Given the description of an element on the screen output the (x, y) to click on. 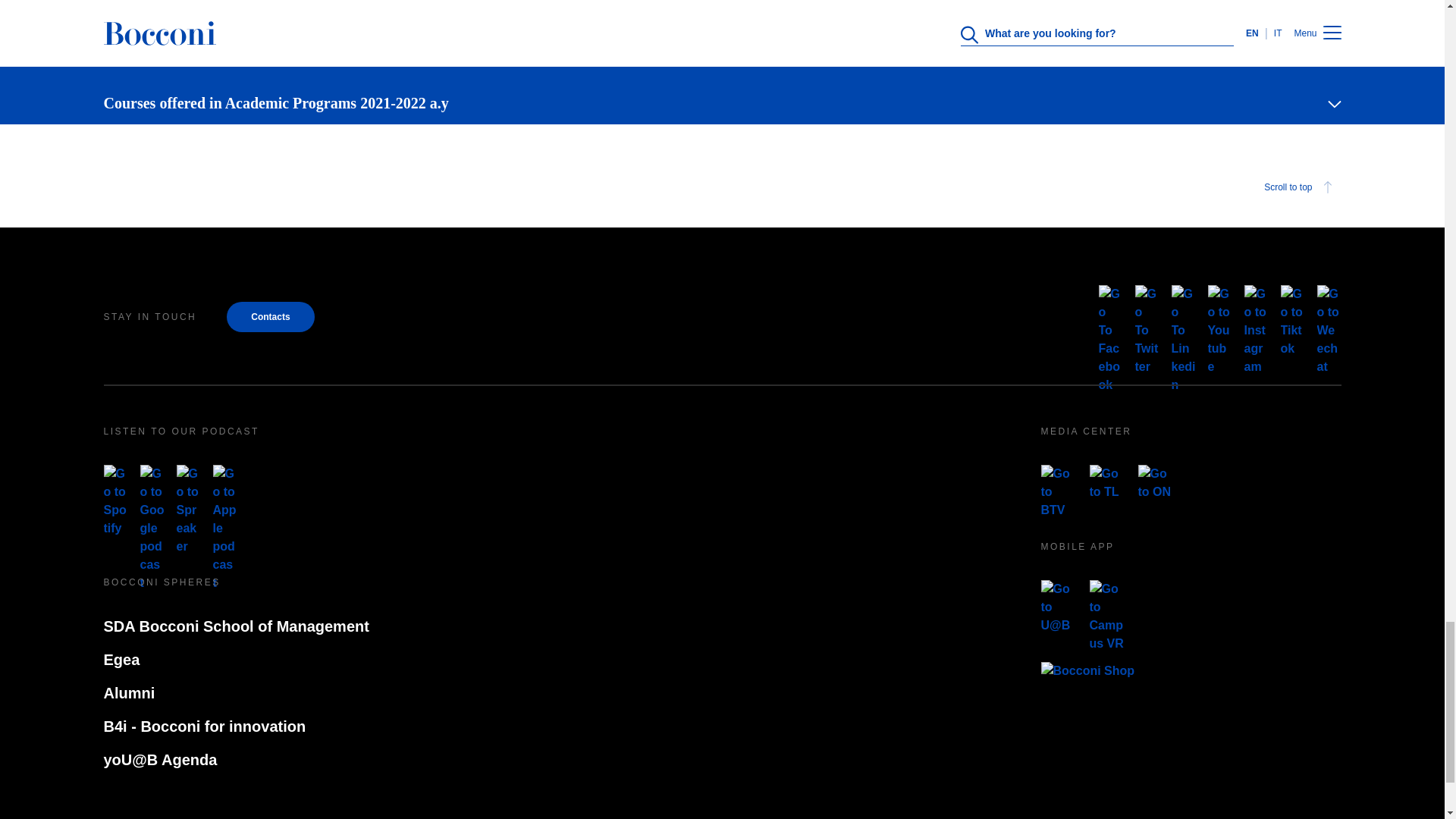
TL (1107, 483)
Scroll to top (1299, 187)
ON (1155, 483)
Scroll to top (721, 187)
